Given the description of an element on the screen output the (x, y) to click on. 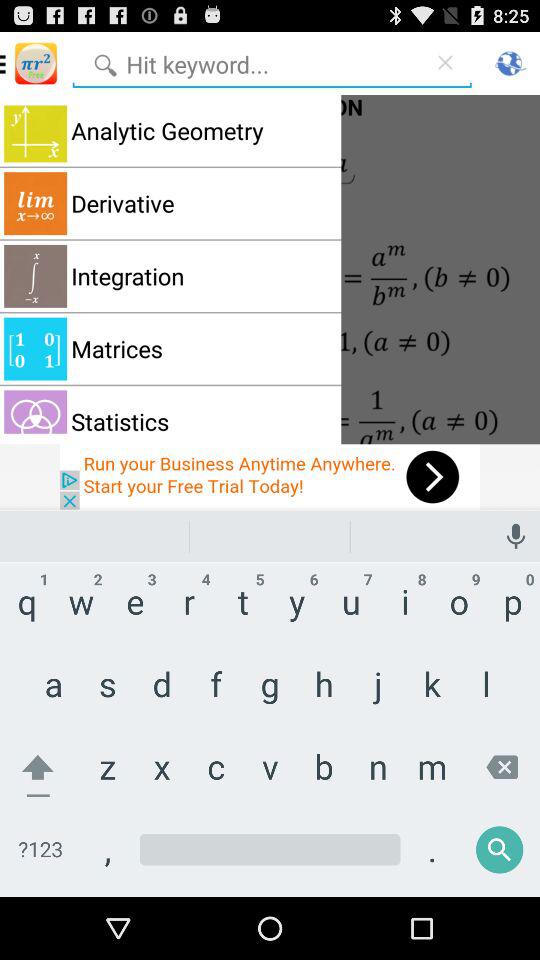
search (247, 61)
